Given the description of an element on the screen output the (x, y) to click on. 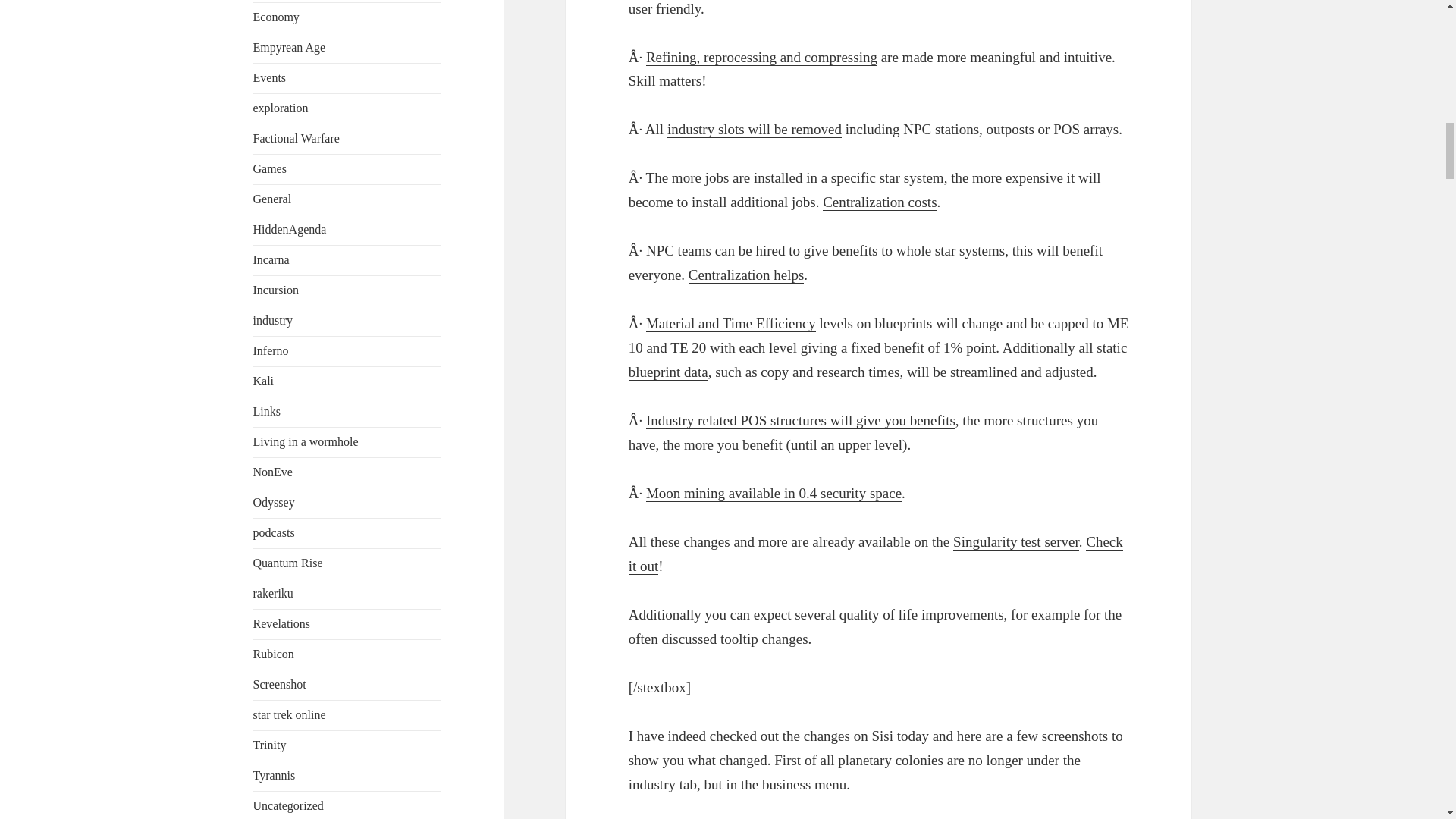
General (272, 198)
HiddenAgenda (289, 228)
exploration (280, 107)
Factional Warfare (296, 137)
Events (269, 77)
Empyrean Age (289, 47)
Games (269, 168)
Economy (276, 16)
